Given the description of an element on the screen output the (x, y) to click on. 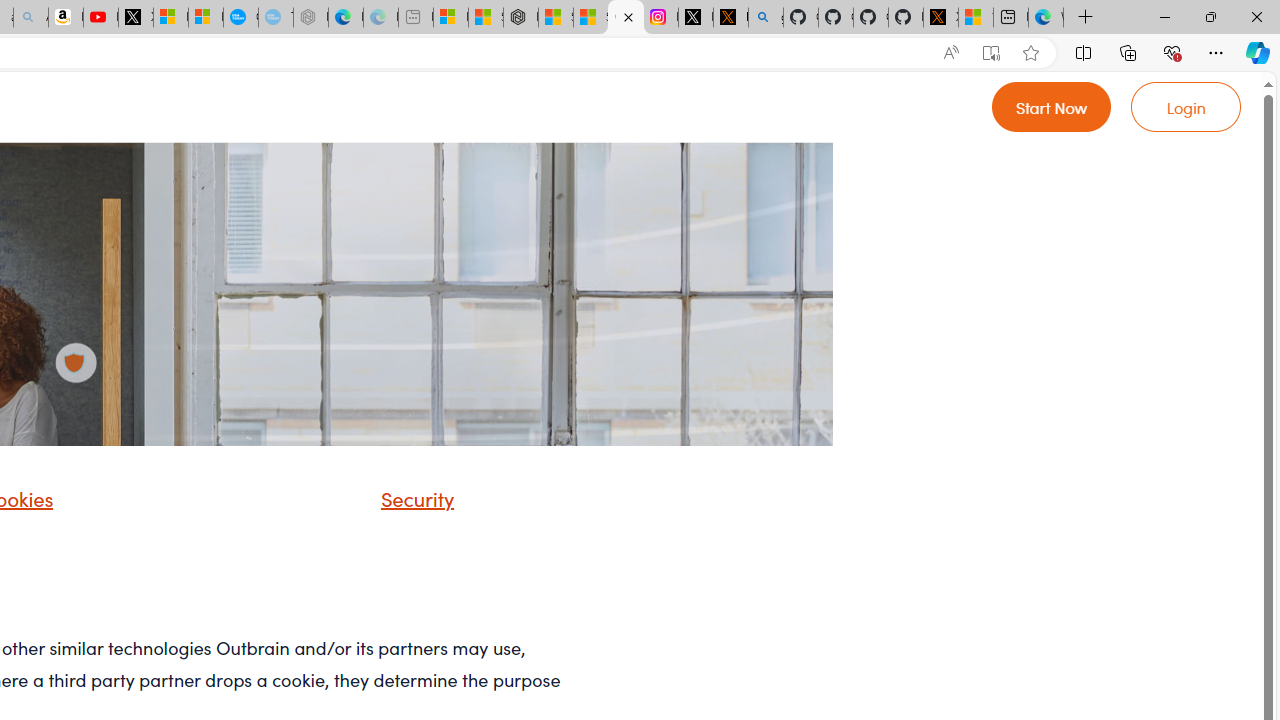
Nordace - Duffels (520, 17)
Security (392, 505)
github - Search (765, 17)
Enter Immersive Reader (F9) (991, 53)
Go to Register (1051, 106)
